Given the description of an element on the screen output the (x, y) to click on. 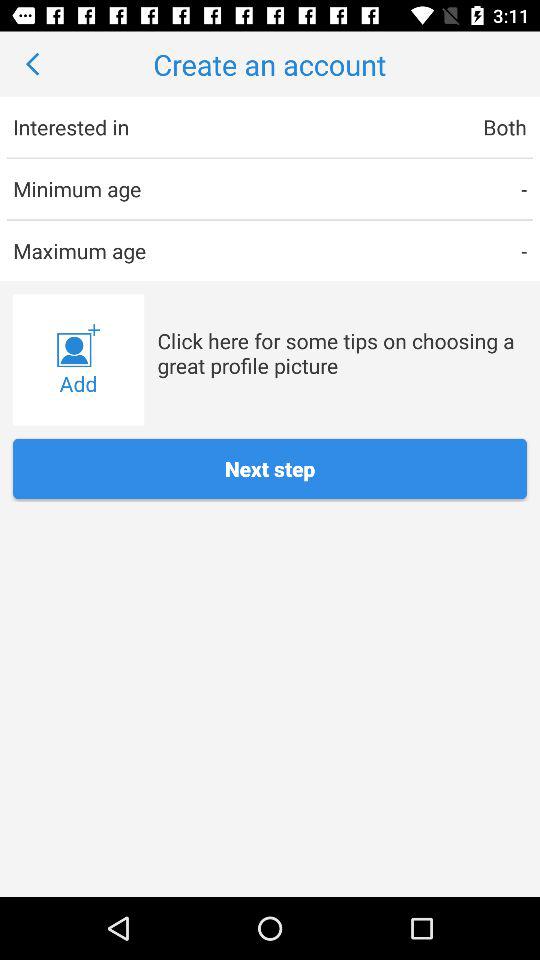
open item below the - item (341, 352)
